Given the description of an element on the screen output the (x, y) to click on. 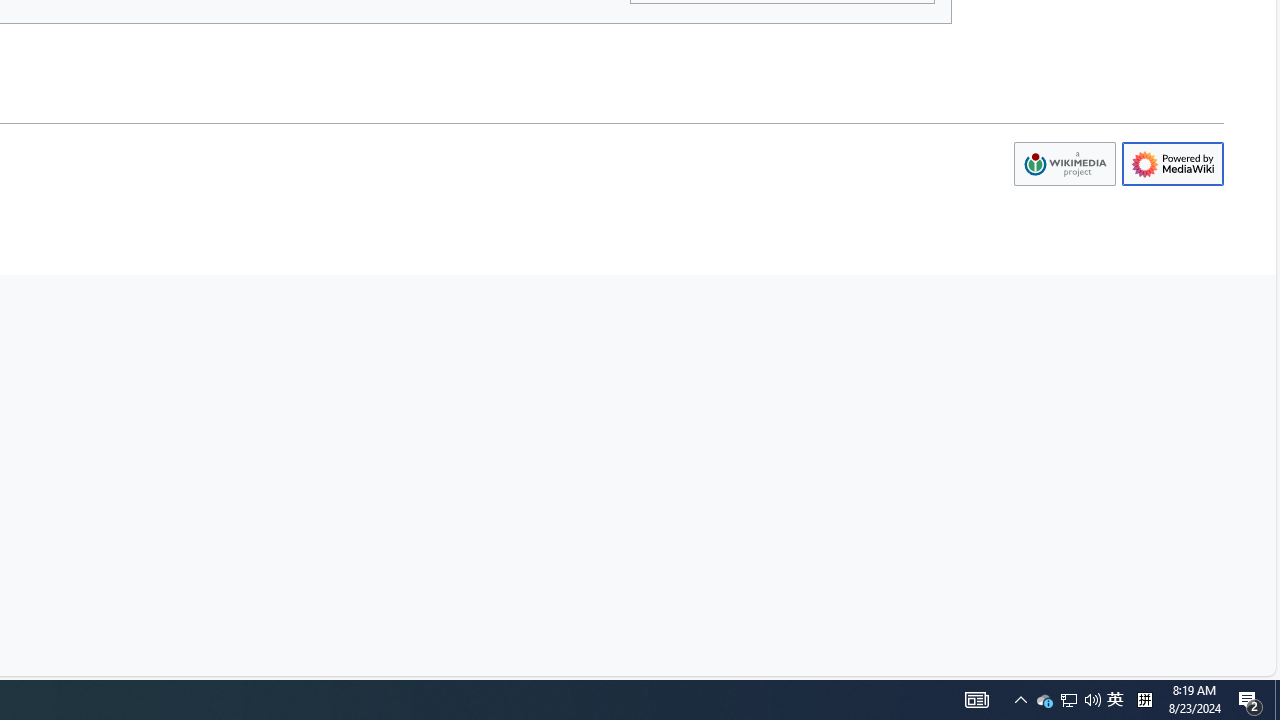
Powered by MediaWiki (1172, 164)
Wikimedia Foundation (1064, 164)
AutomationID: footer-copyrightico (1064, 164)
AutomationID: footer-poweredbyico (1172, 164)
Wikimedia Foundation (1064, 164)
Powered by MediaWiki (1172, 164)
